Given the description of an element on the screen output the (x, y) to click on. 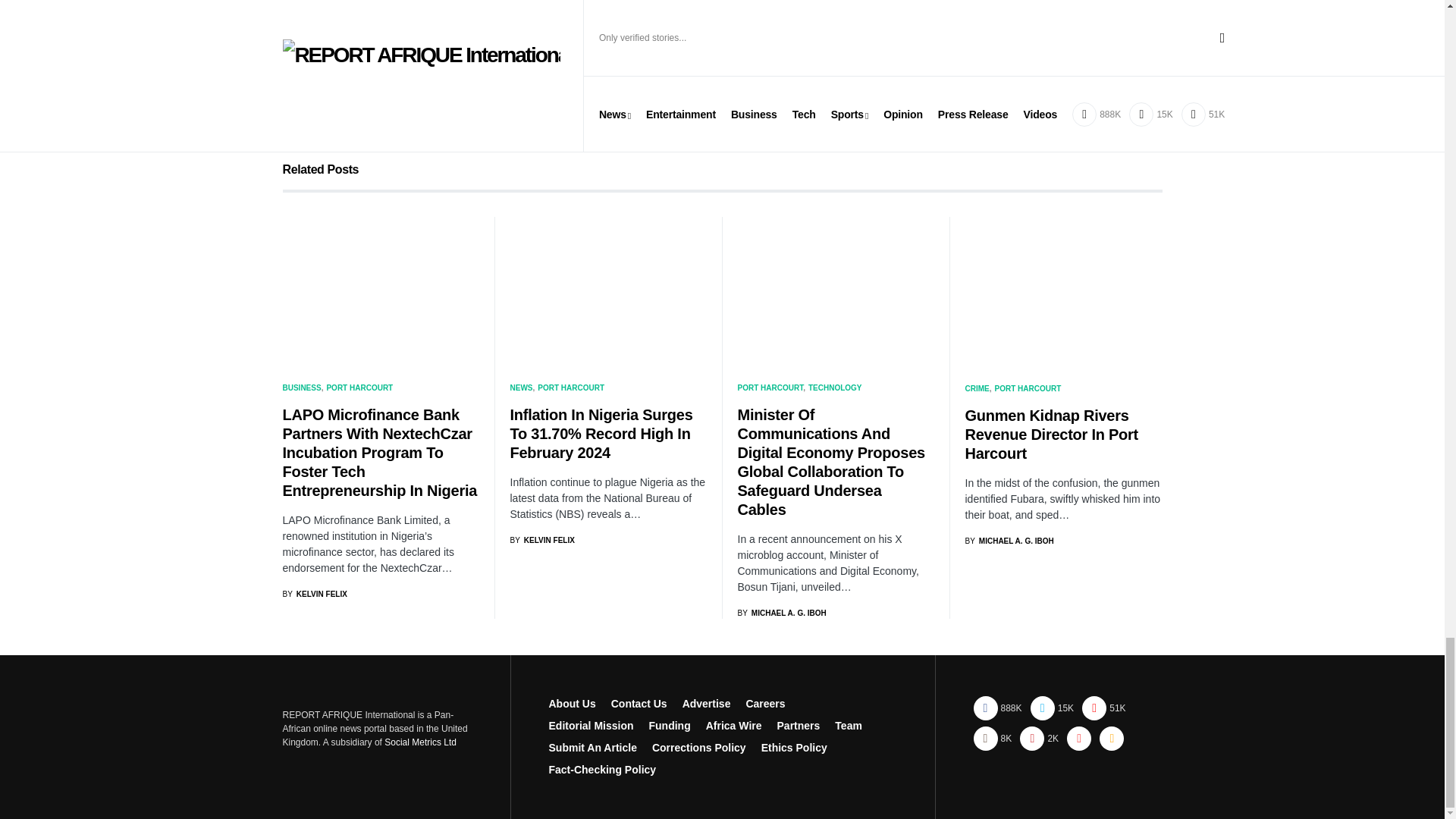
View all posts by Michael A. G. Iboh (1007, 541)
Gunmen Kidnap Rivers Revenue Director in Port Harcourt (1062, 290)
View all posts by Michael A. G. Iboh (780, 613)
View all posts by Kelvin Felix (314, 593)
View all posts by Kelvin Felix (541, 540)
